Given the description of an element on the screen output the (x, y) to click on. 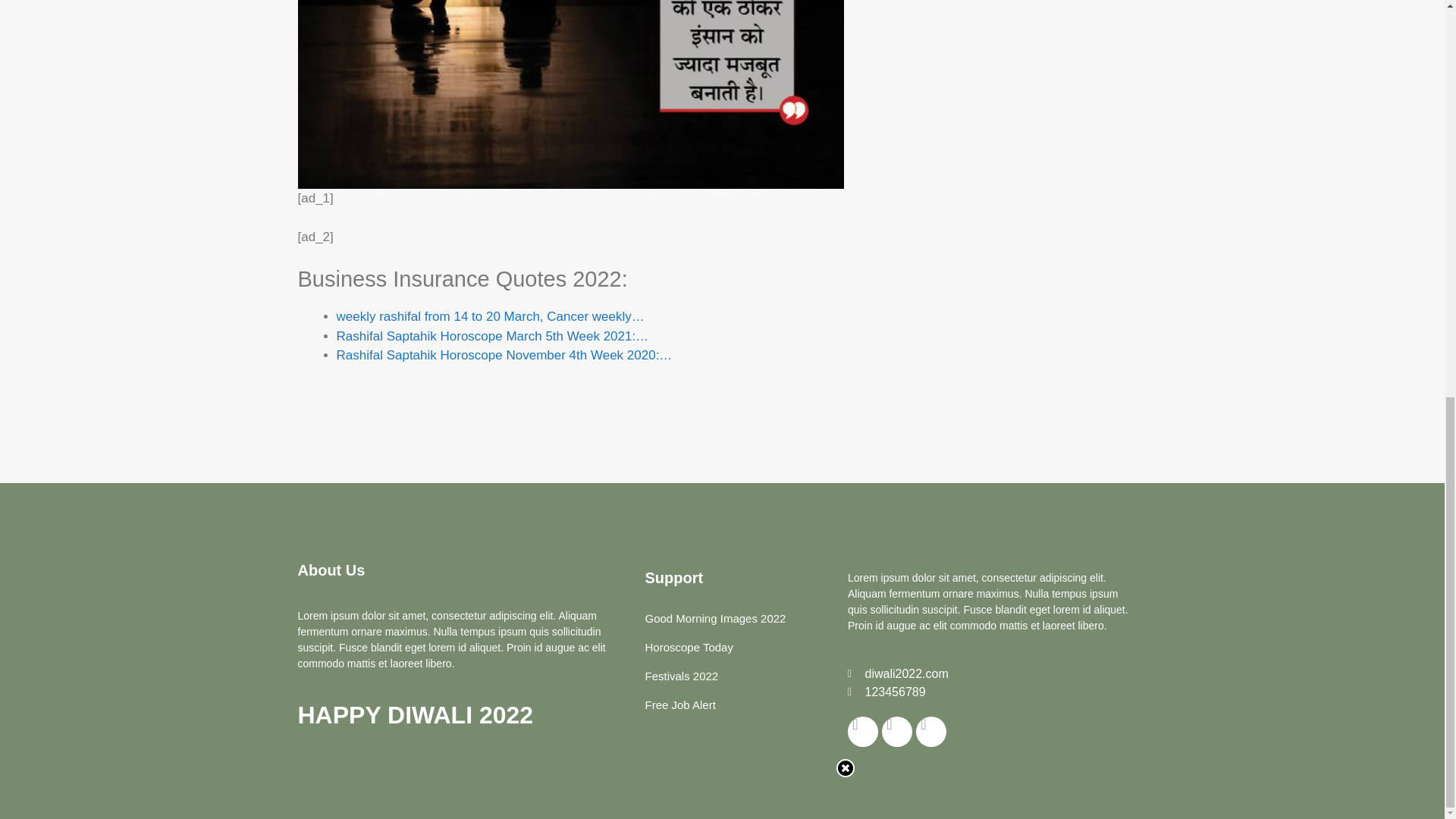
Festivals 2022 (680, 676)
Horoscope Today (688, 647)
Free Job Alert (679, 705)
Good Morning Images 2022 (714, 618)
